Given the description of an element on the screen output the (x, y) to click on. 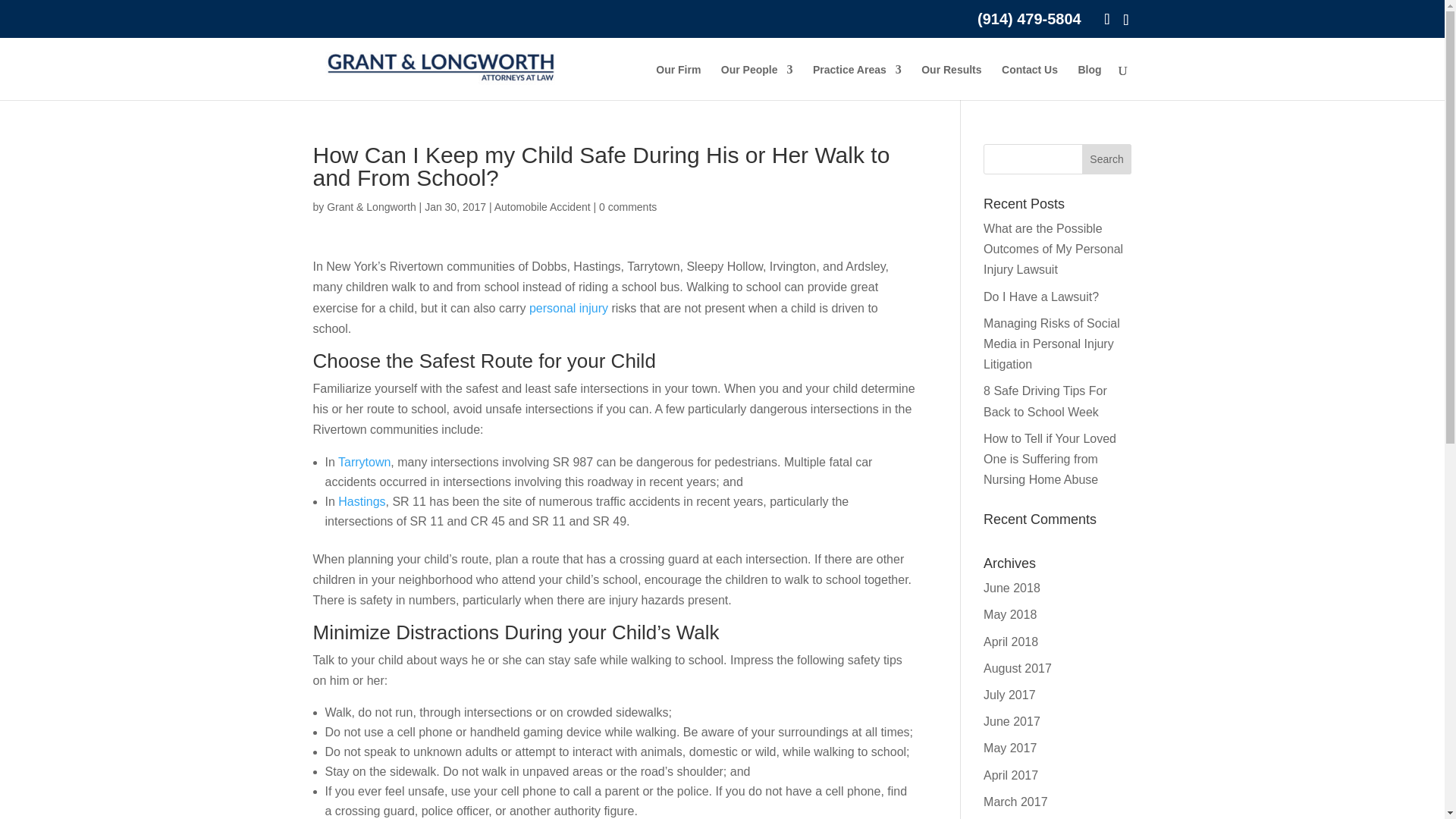
Practice Areas (856, 81)
Our Results (951, 81)
Our Firm (678, 81)
Search (1106, 159)
Our People (756, 81)
Contact Us (1029, 81)
